Given the description of an element on the screen output the (x, y) to click on. 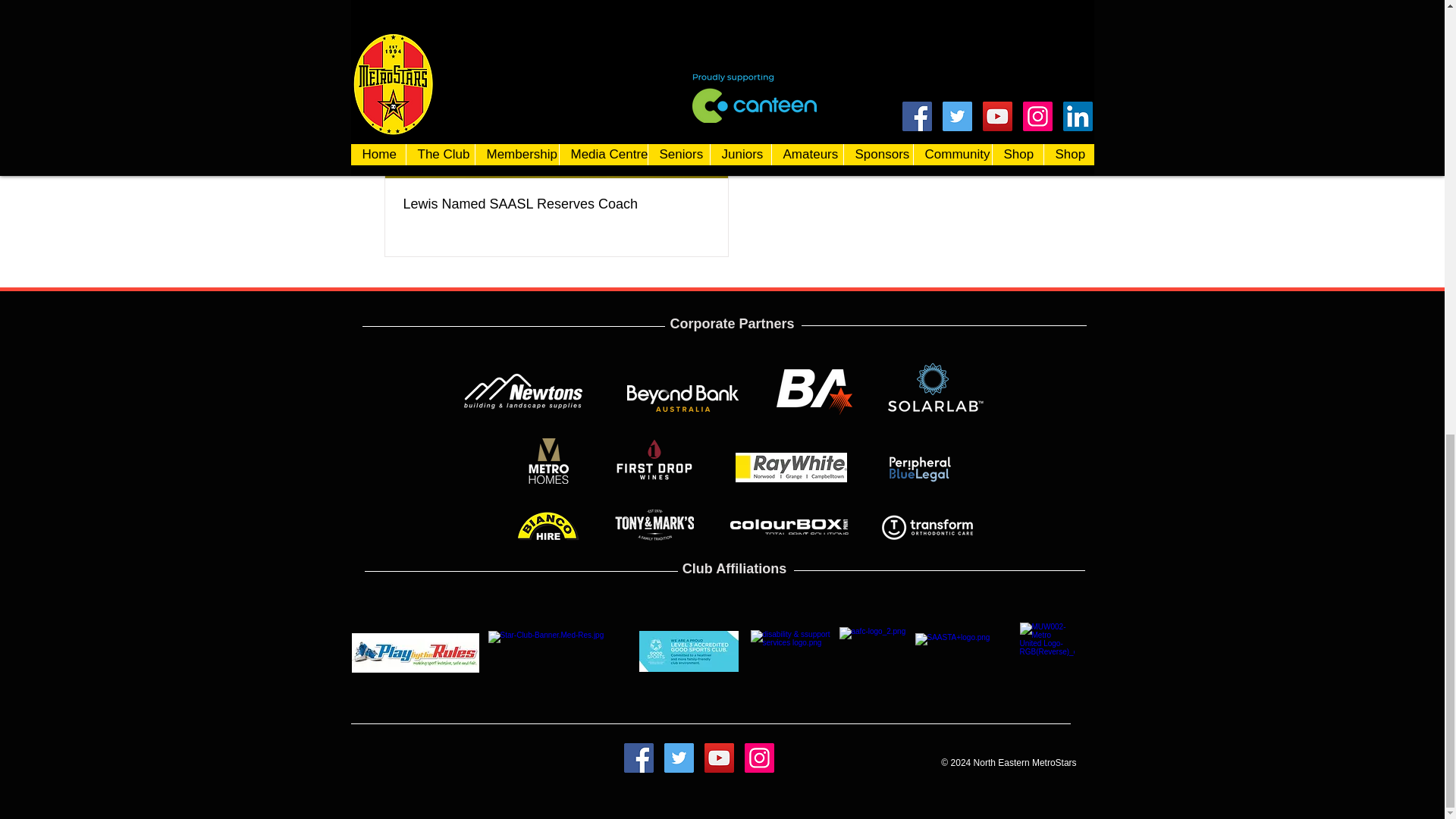
Tony Marks White.PNG (688, 650)
Play-by-the-Rules-1.jpg (558, 650)
Play-by-the-Rules-1.jpg (415, 652)
Tony Marks White.PNG (795, 649)
JS Sports.png (813, 391)
